Given the description of an element on the screen output the (x, y) to click on. 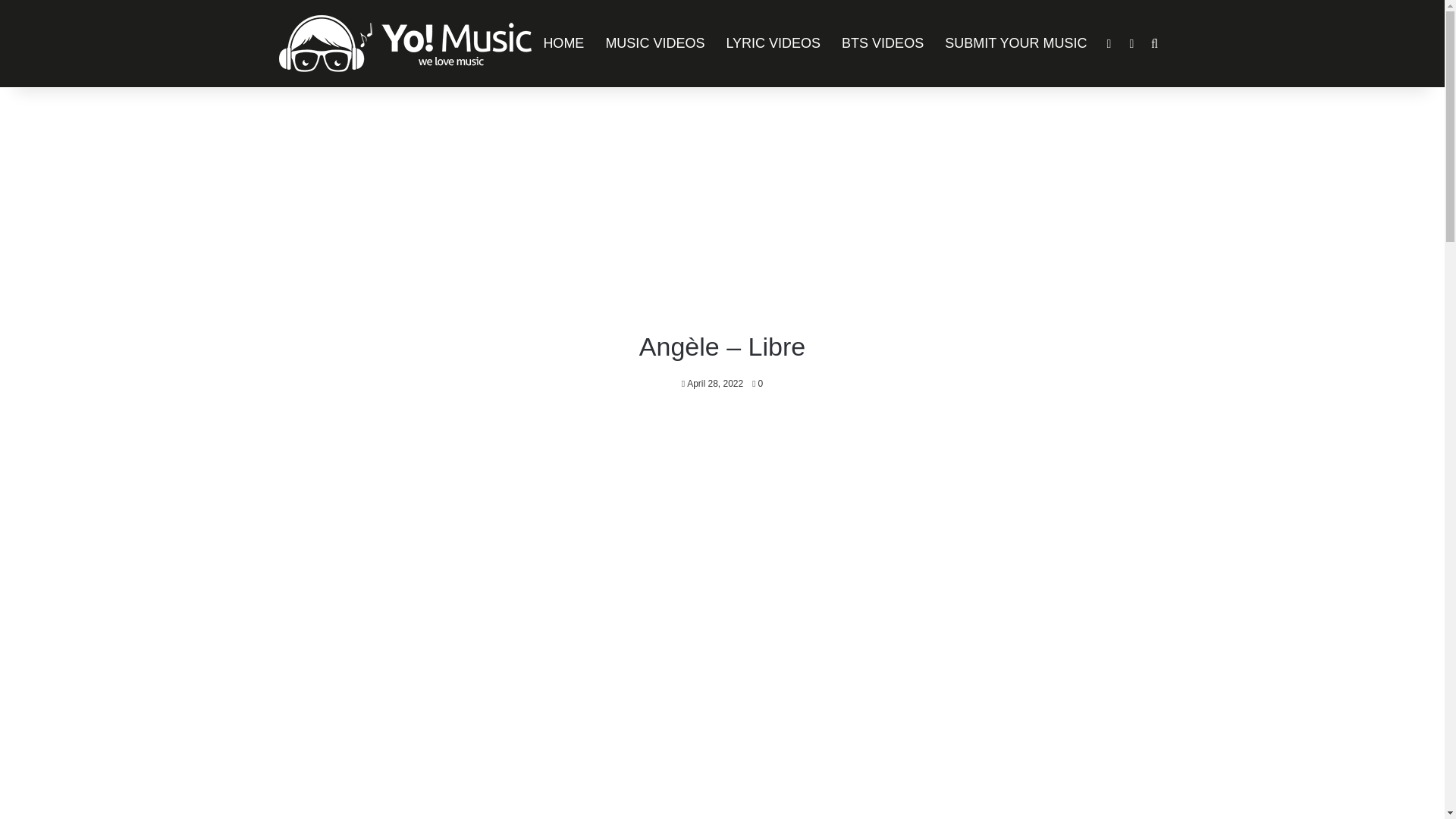
BTS VIDEOS (882, 43)
LYRIC VIDEOS (772, 43)
SUBMIT YOUR MUSIC (1015, 43)
MUSIC VIDEOS (654, 43)
Yo! Music (405, 43)
